Given the description of an element on the screen output the (x, y) to click on. 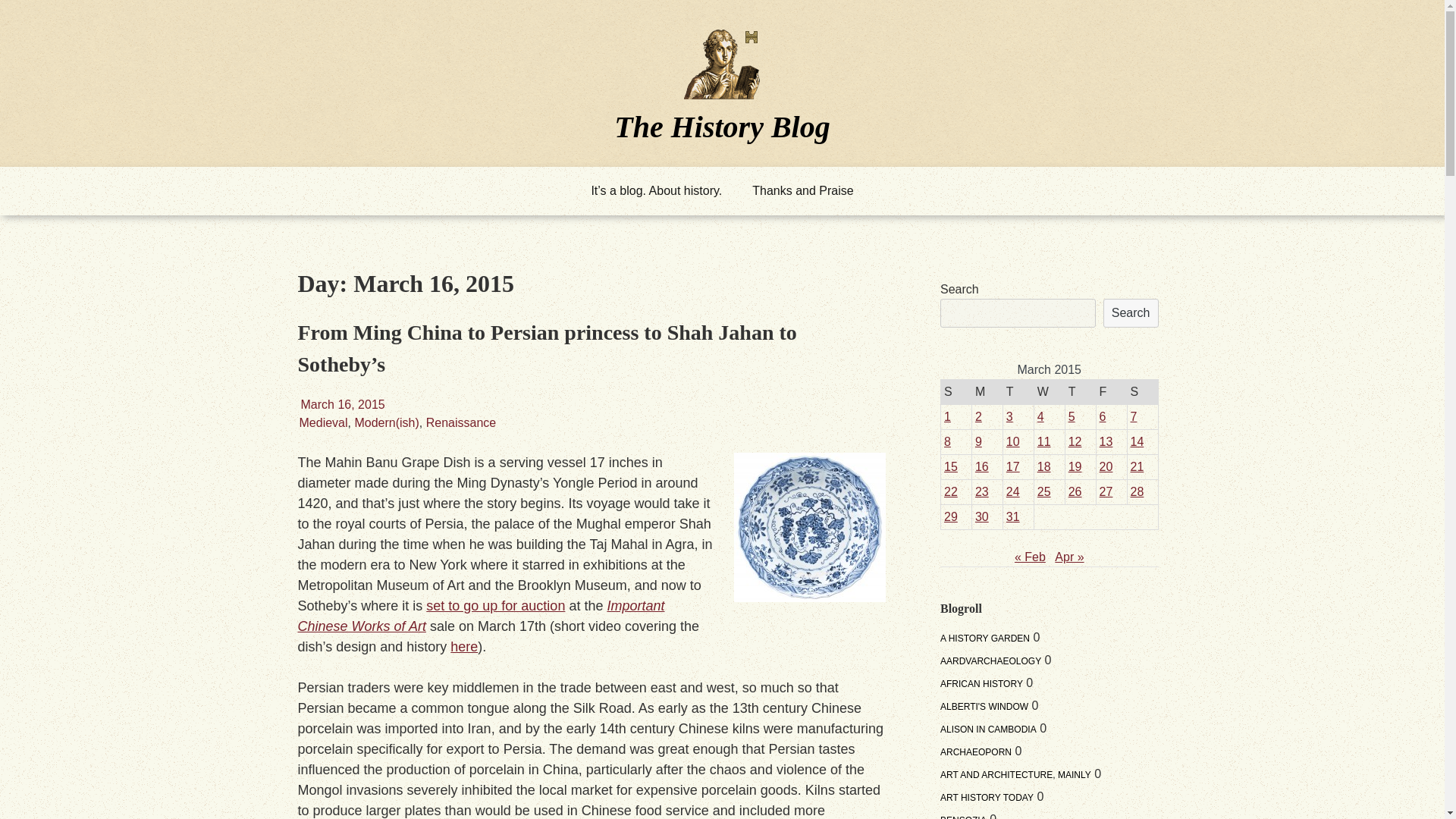
The History Blog (721, 125)
Thanks and Praise (801, 191)
11 (1043, 440)
Sunday (955, 391)
Saturday (1141, 391)
set to go up for auction (495, 605)
12 (1074, 440)
Medieval (322, 422)
Search (1130, 312)
Important Chinese Works of Art (480, 615)
Renaissance (461, 422)
14 (1137, 440)
March 16, 2015 (341, 404)
10 (1013, 440)
